Given the description of an element on the screen output the (x, y) to click on. 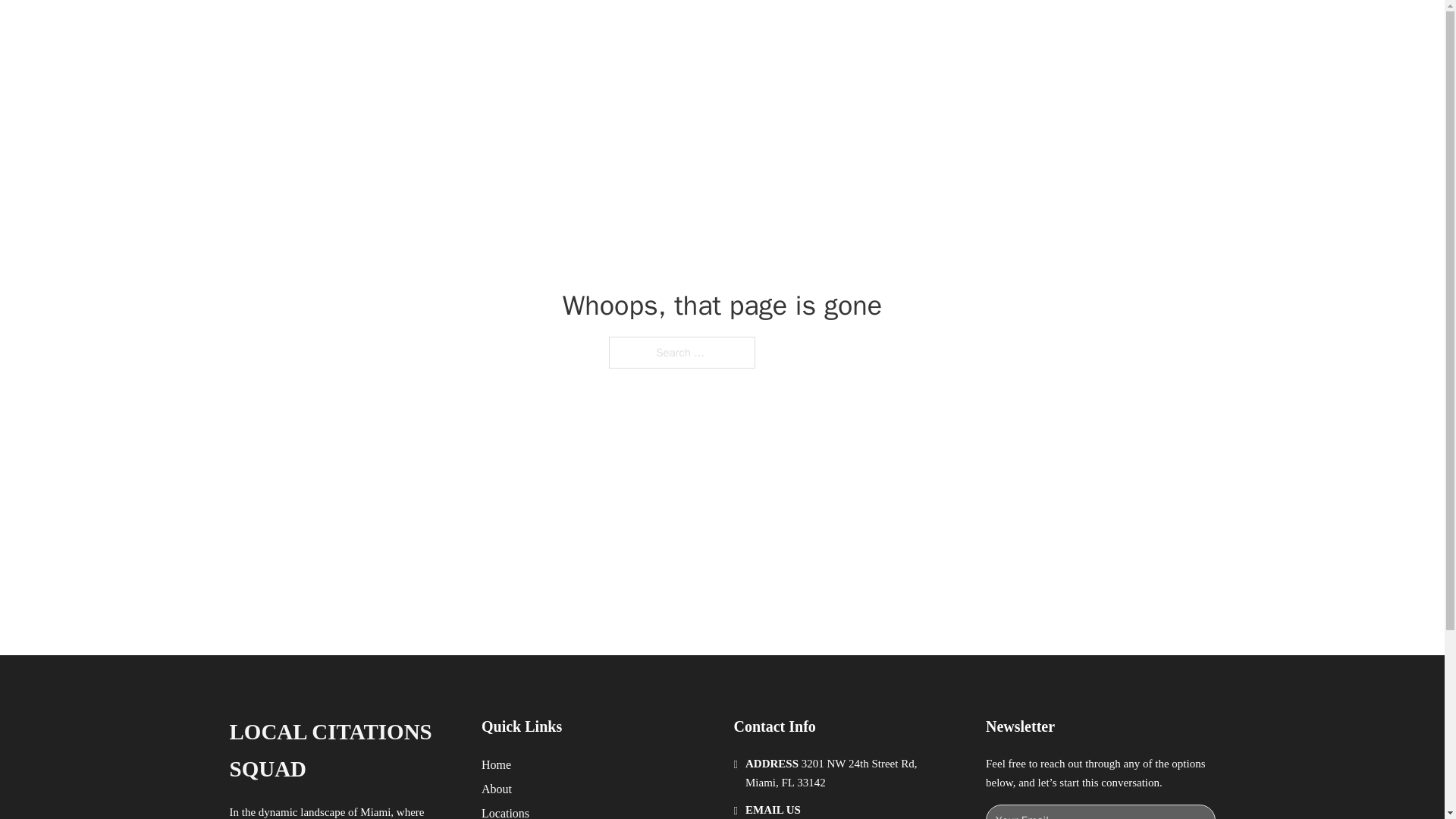
About (496, 788)
LOCAL CITATION SQUAD (428, 28)
LOCATIONS (990, 29)
Locations (505, 811)
Home (496, 764)
HOME (919, 29)
LOCAL CITATIONS SQUAD (343, 750)
